Given the description of an element on the screen output the (x, y) to click on. 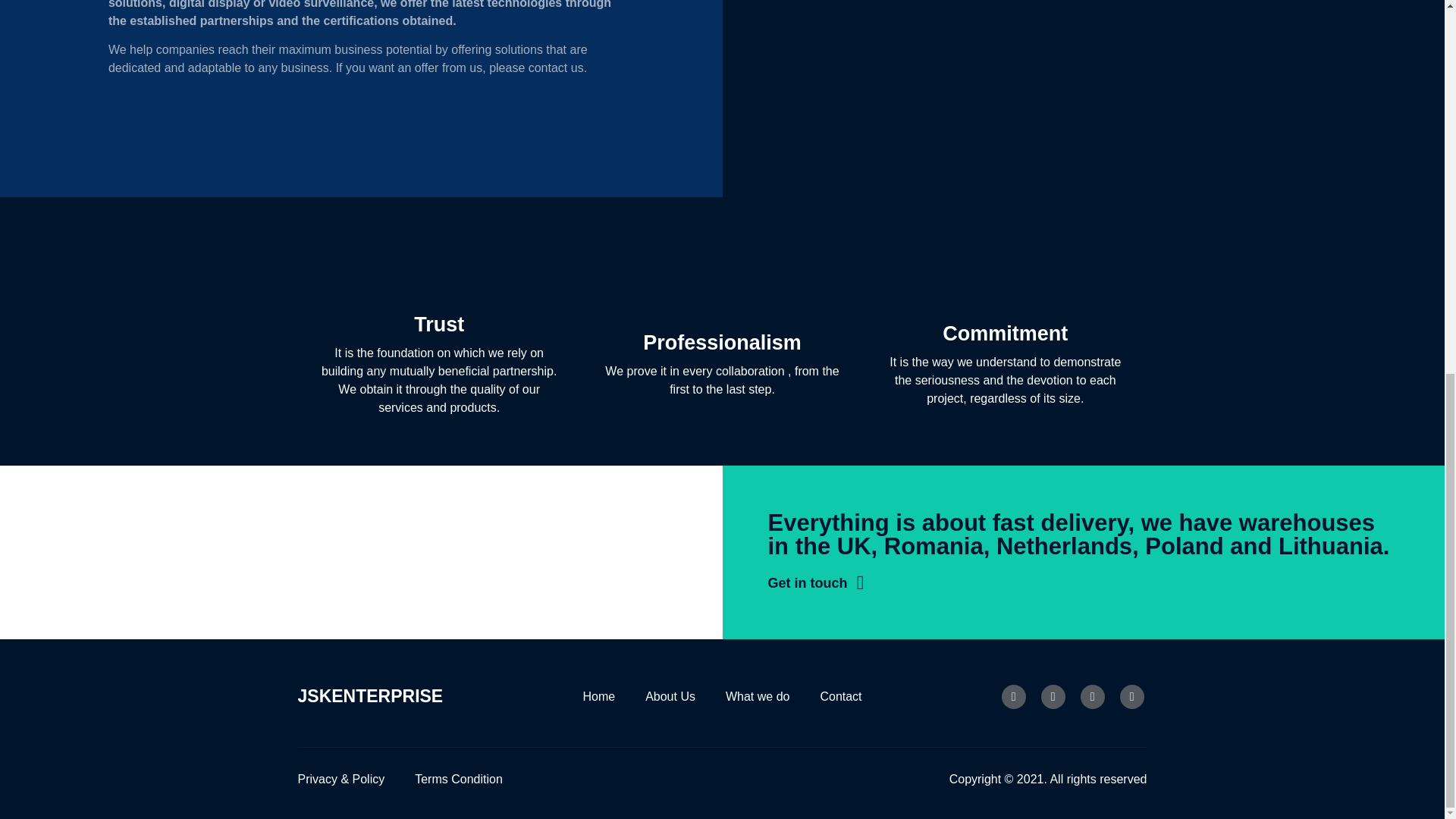
Terms Condition (458, 779)
Get in touch (807, 582)
What we do (757, 696)
Home (598, 696)
Contact (840, 696)
About Us (670, 696)
